Given the description of an element on the screen output the (x, y) to click on. 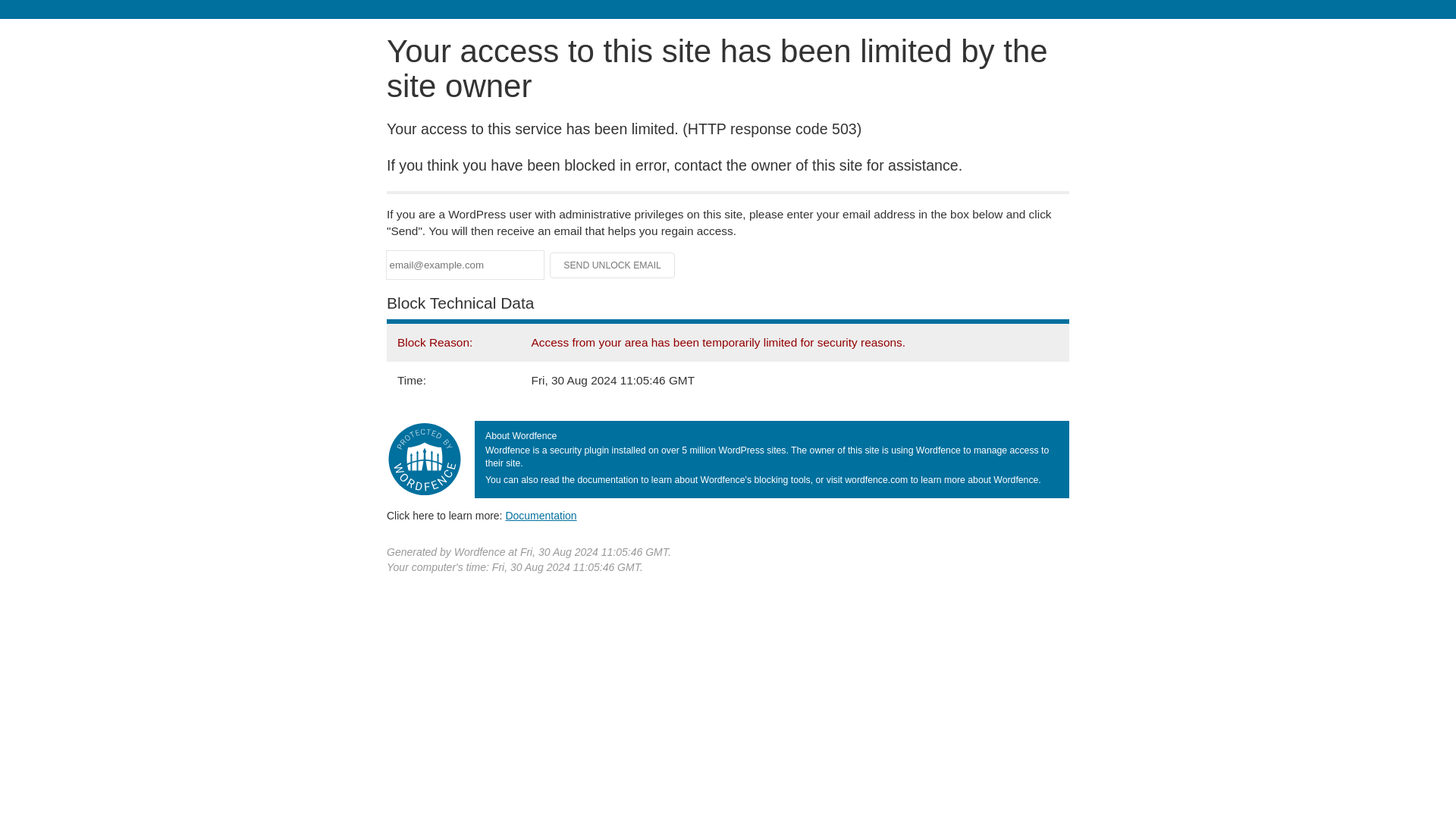
Send Unlock Email (612, 265)
Send Unlock Email (612, 265)
Documentation (540, 515)
